Given the description of an element on the screen output the (x, y) to click on. 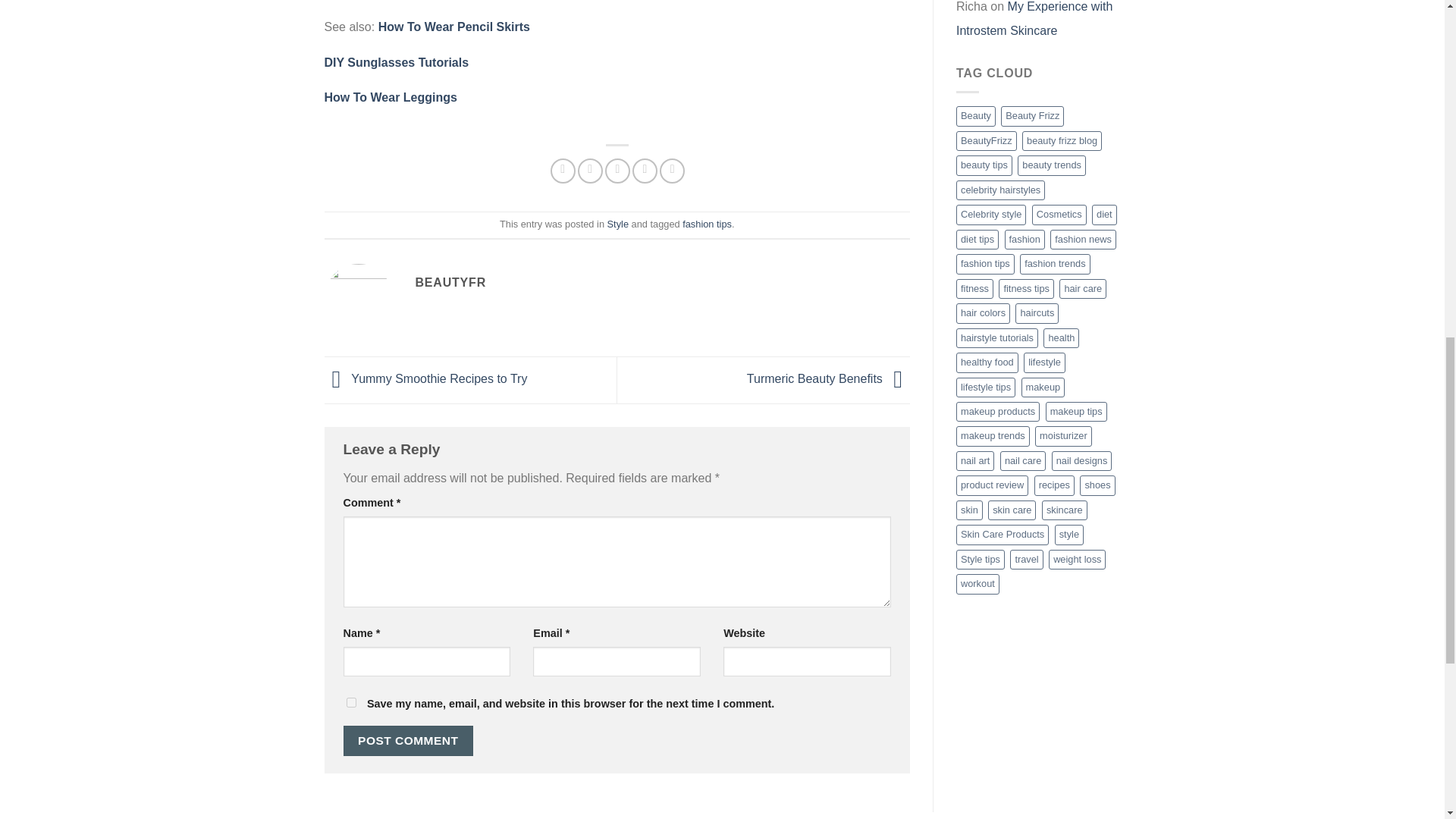
Share on Twitter (590, 170)
Share on Facebook (562, 170)
Share on LinkedIn (671, 170)
Post Comment (407, 740)
yes (350, 702)
Pin on Pinterest (644, 170)
Email to a Friend (617, 170)
